Given the description of an element on the screen output the (x, y) to click on. 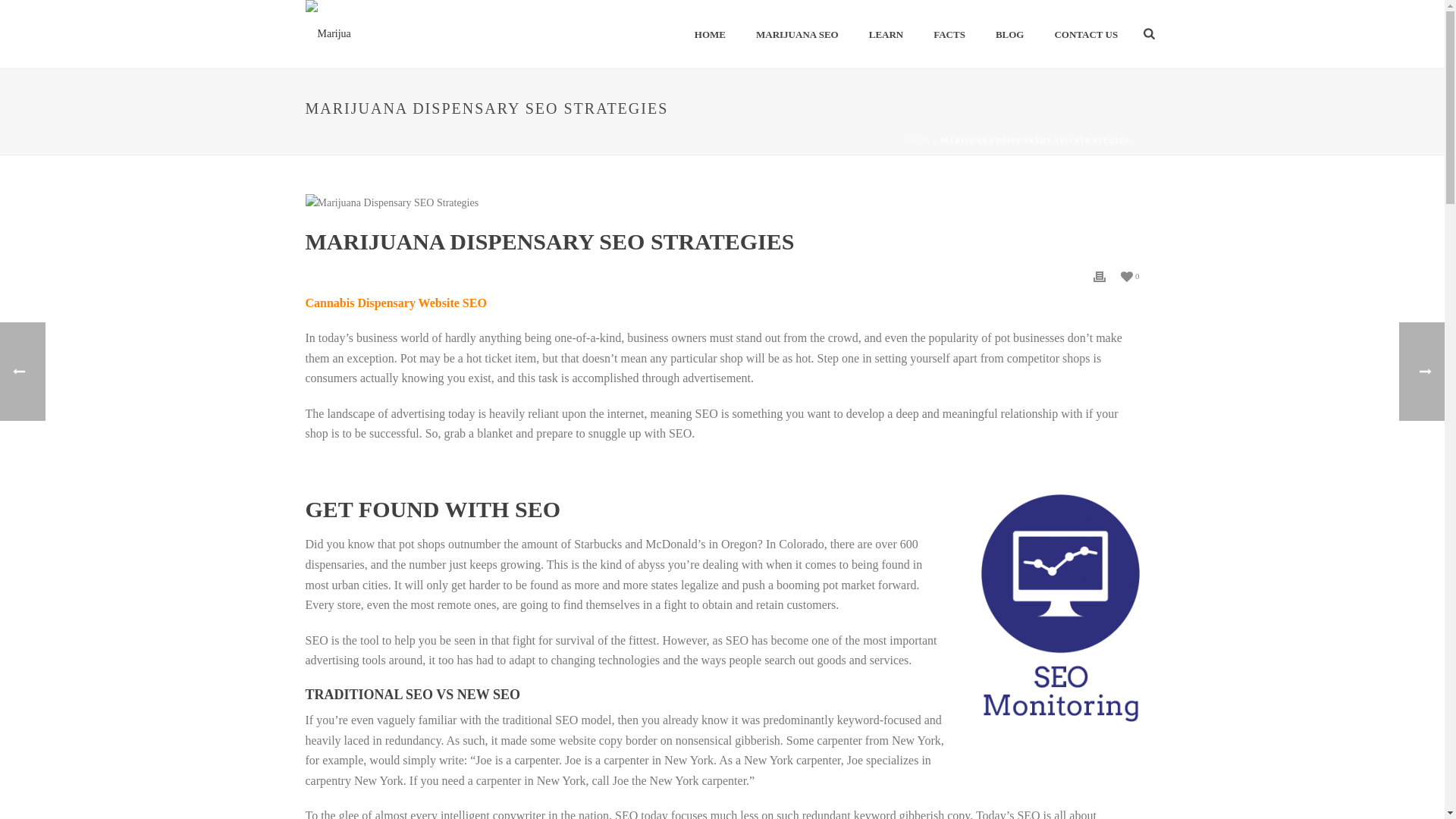
MARIJUANA SEO (797, 34)
BLOG (1009, 34)
Marijuana Dispensary SEO Strategies (721, 202)
FACTS (948, 34)
MARIJUANA SEO (797, 34)
LEARN (885, 34)
HOME (710, 34)
FACTS (948, 34)
LEARN (885, 34)
